Given the description of an element on the screen output the (x, y) to click on. 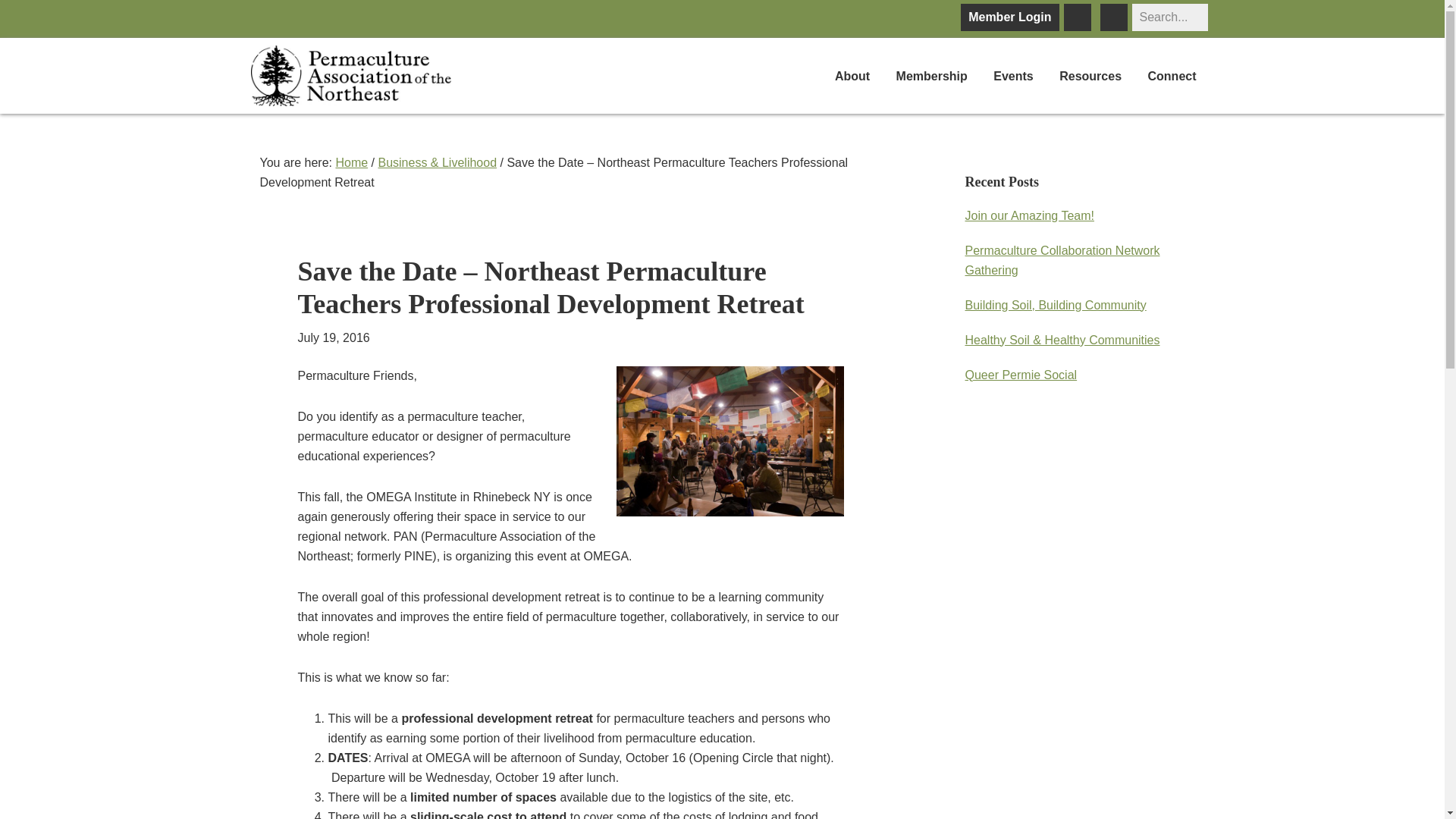
Resources (1090, 78)
Connect (1171, 78)
Home (351, 162)
Search (1215, 6)
Search (1215, 6)
Search (1215, 6)
Membership (931, 78)
About (852, 78)
PAN (349, 75)
Member Login (1009, 17)
Events (1012, 78)
